Given the description of an element on the screen output the (x, y) to click on. 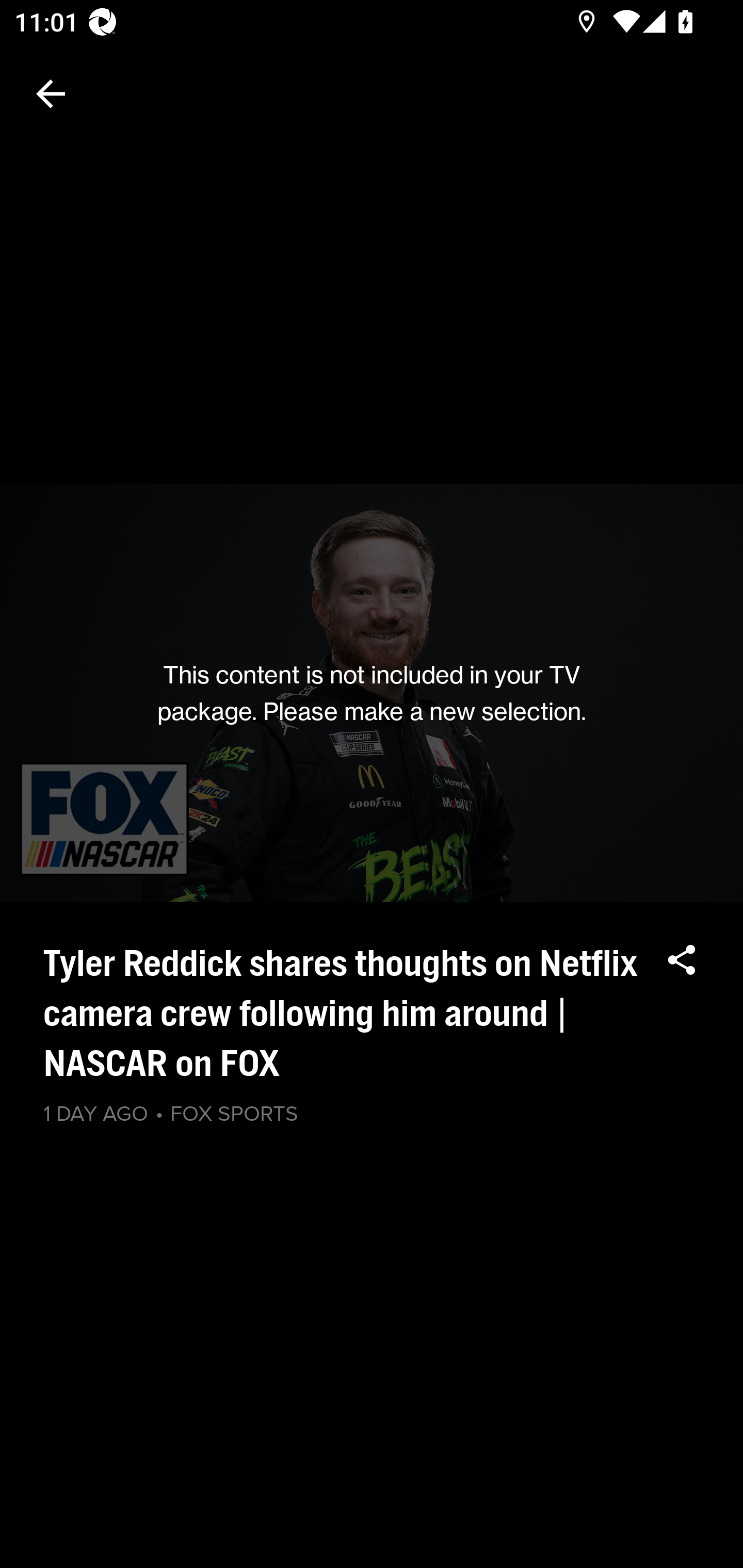
Navigate up (50, 93)
